Given the description of an element on the screen output the (x, y) to click on. 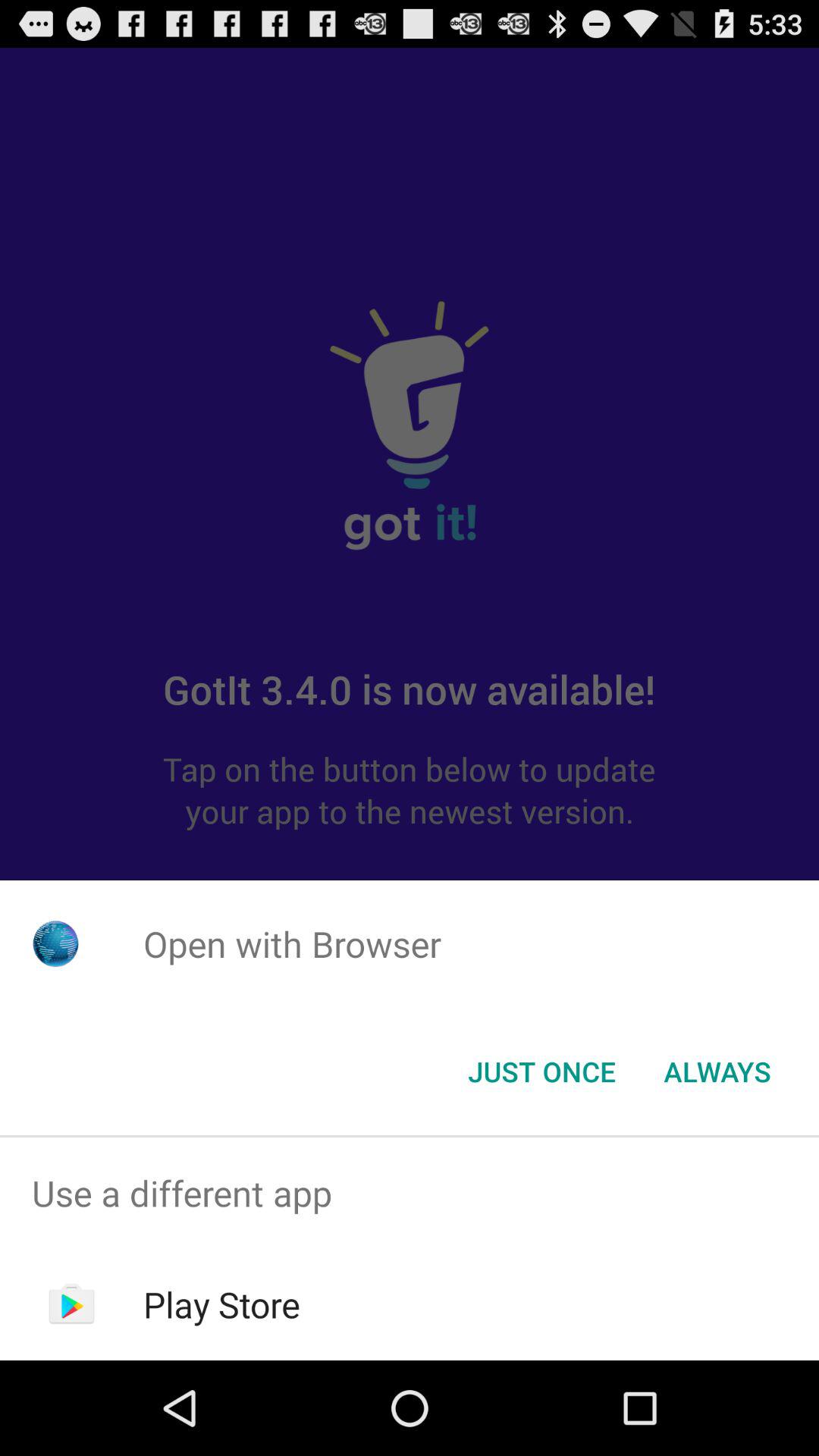
flip until use a different icon (409, 1192)
